Given the description of an element on the screen output the (x, y) to click on. 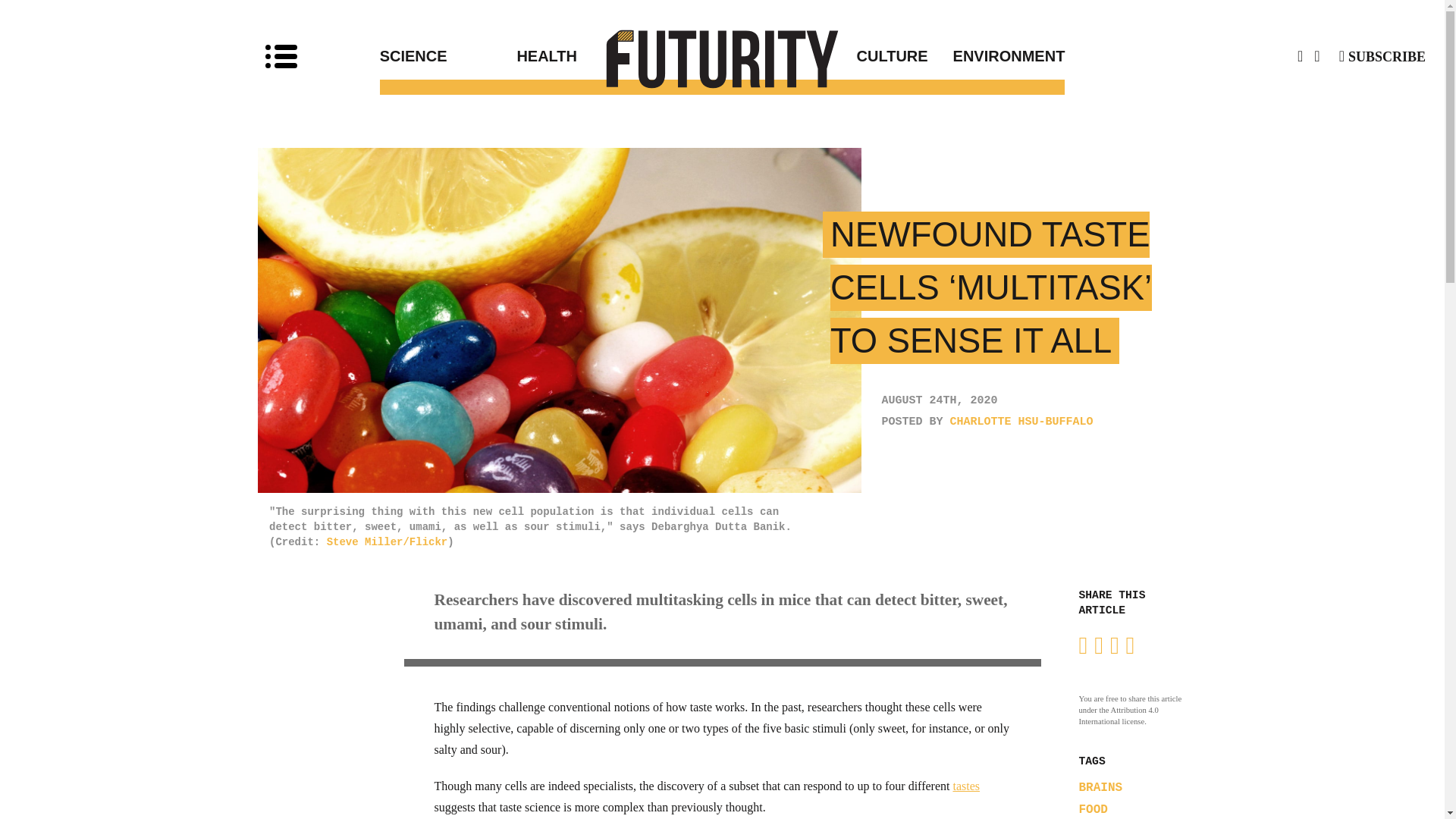
BRAINS (1100, 787)
SUBSCRIBE (1382, 56)
FOOD (1092, 809)
Environment (996, 55)
Health (619, 55)
ENVIRONMENT (996, 55)
HEALTH (619, 55)
CULTURE (824, 55)
Science (448, 55)
SCIENCE (448, 55)
